Given the description of an element on the screen output the (x, y) to click on. 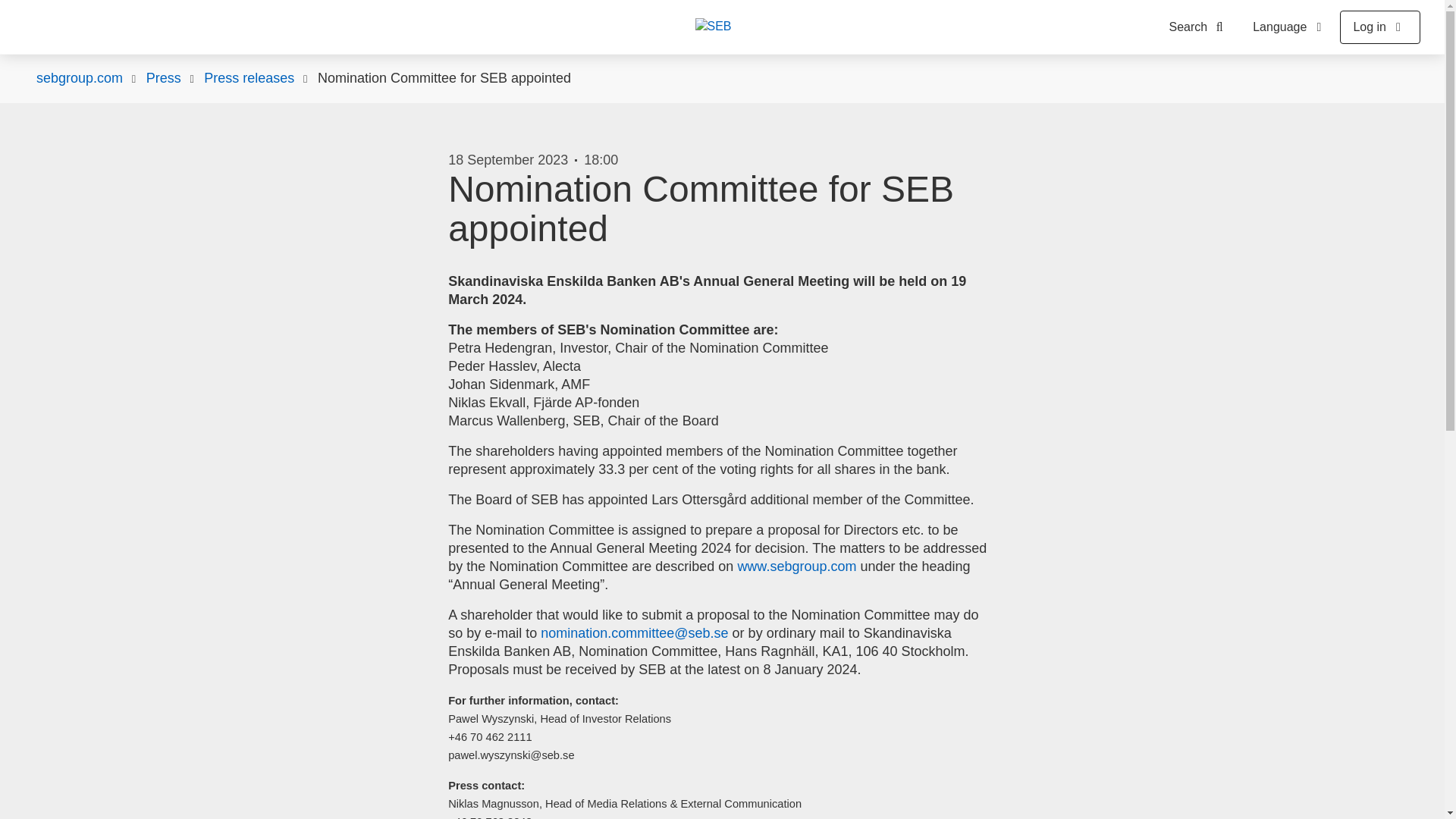
Search (1199, 27)
Press releases (248, 78)
Log in (1380, 27)
sebgroup.com (79, 78)
www.sebgroup.com (796, 566)
Press (163, 78)
Language (1289, 27)
